Given the description of an element on the screen output the (x, y) to click on. 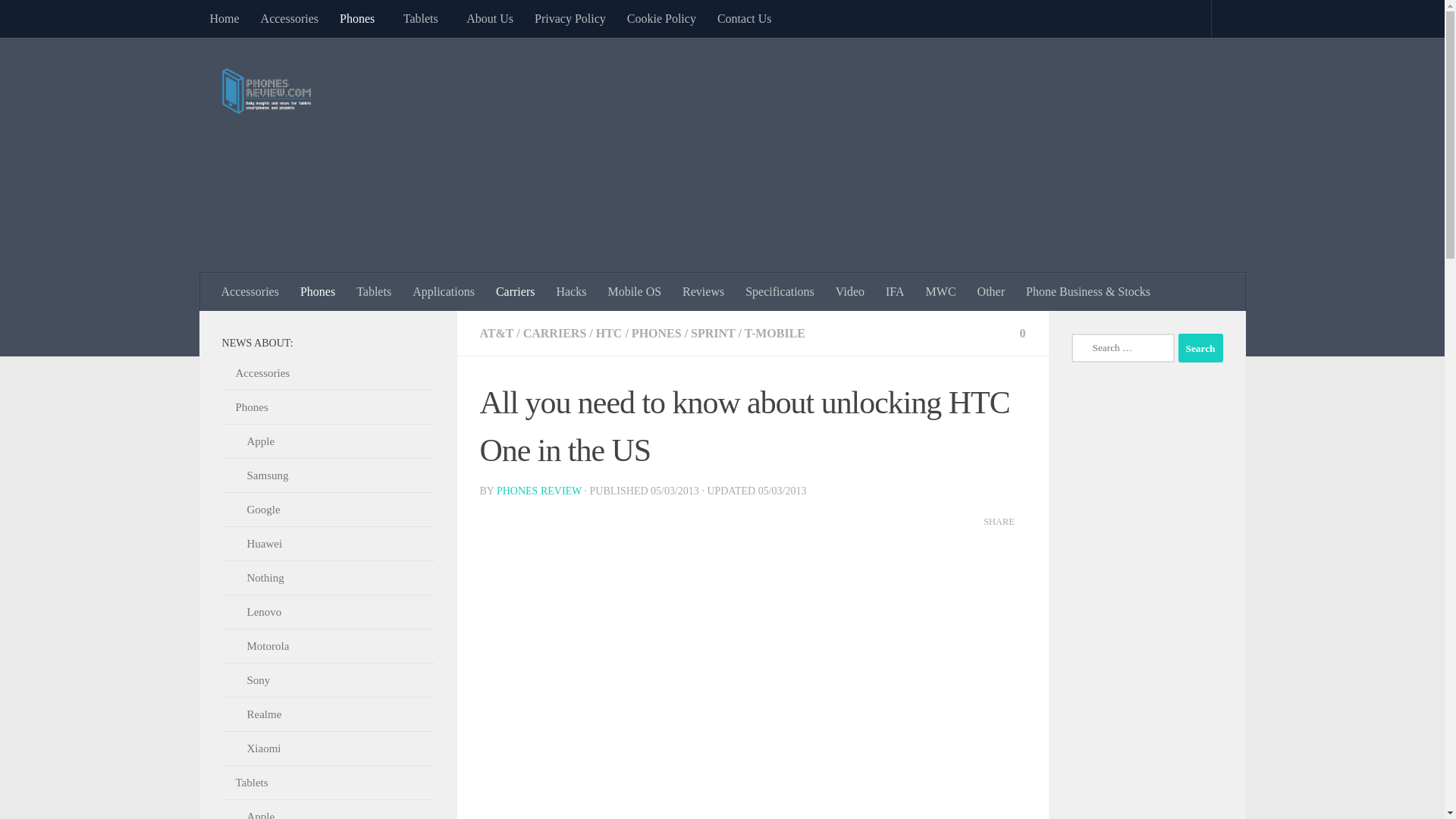
Skip to content (59, 20)
Posts by Phones Review (538, 490)
Phones (361, 18)
Search (1200, 347)
Home (223, 18)
Search (1200, 347)
Accessories (289, 18)
